Given the description of an element on the screen output the (x, y) to click on. 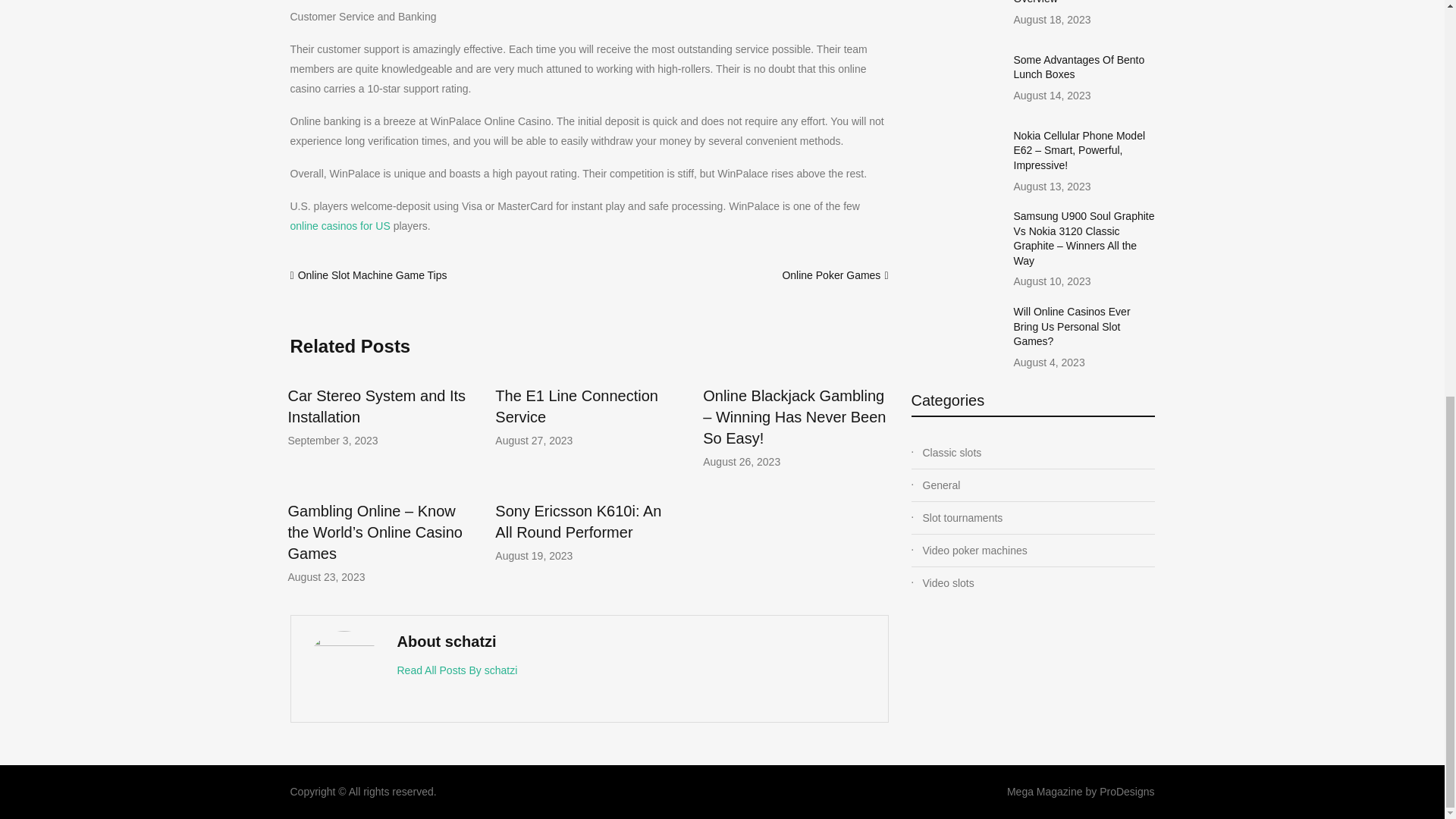
Sony Ericsson K610i: An All Round Performer (578, 521)
The E1 Line Connection Service (576, 406)
online casinos for US (339, 225)
Read All Posts By schatzi (457, 670)
Car Stereo System and Its Installation (376, 406)
Advent Vega Tablet PC Overview (1067, 2)
Some Advantages Of Bento Lunch Boxes (1078, 67)
Online Slot Machine Game Tips (372, 275)
Online Poker Games (830, 275)
